Given the description of an element on the screen output the (x, y) to click on. 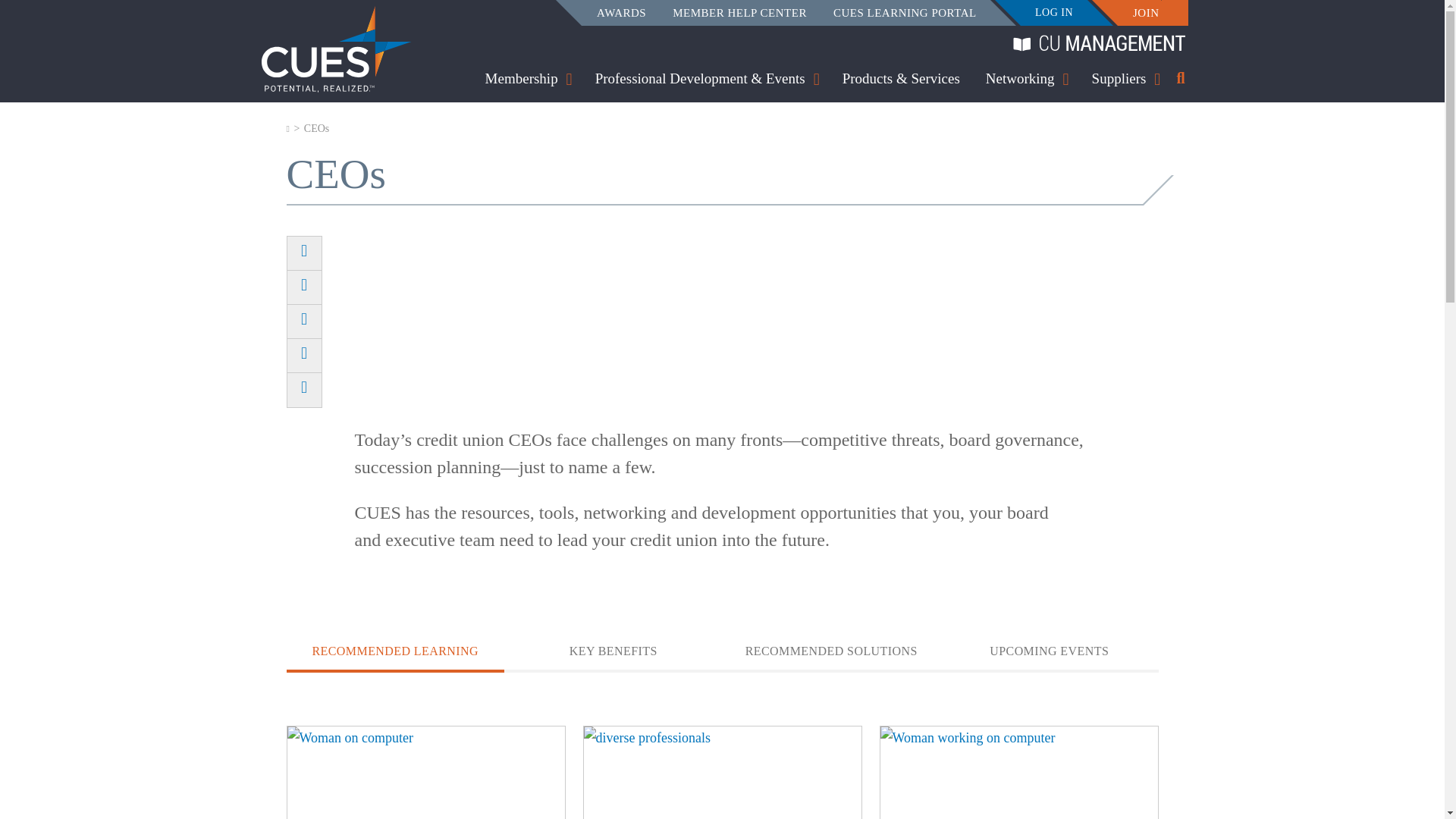
CUES LEARNING PORTAL (904, 13)
Home (335, 48)
Suppliers (1119, 80)
JOIN (1145, 13)
MEMBER HELP CENTER (739, 13)
Membership (520, 80)
Networking (1019, 80)
LOG IN (1054, 12)
AWARDS (621, 13)
